Given the description of an element on the screen output the (x, y) to click on. 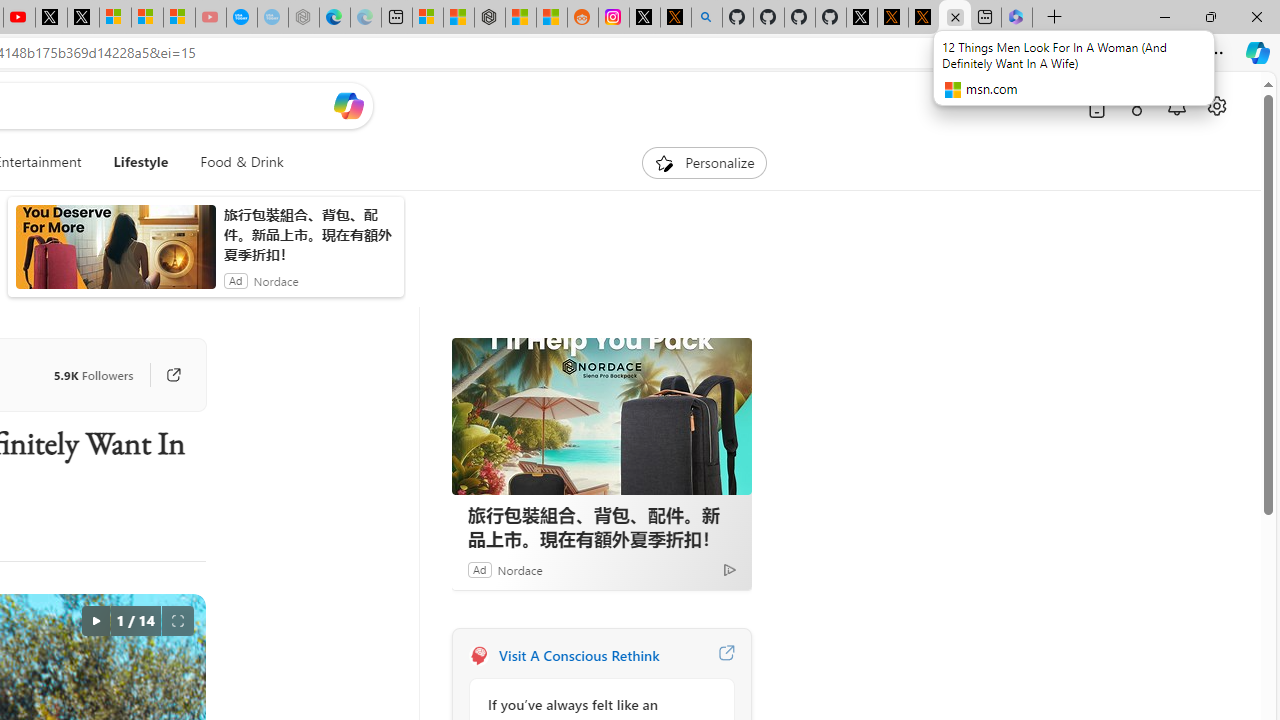
Shanghai, China Weather trends | Microsoft Weather (551, 17)
Personalize (703, 162)
Food & Drink (241, 162)
Go to publisher's site (163, 374)
Full screen (177, 620)
Visit A Conscious Rethink website (726, 655)
autorotate button (95, 620)
To get missing image descriptions, open the context menu. (664, 162)
Gloom - YouTube - Sleeping (210, 17)
